Given the description of an element on the screen output the (x, y) to click on. 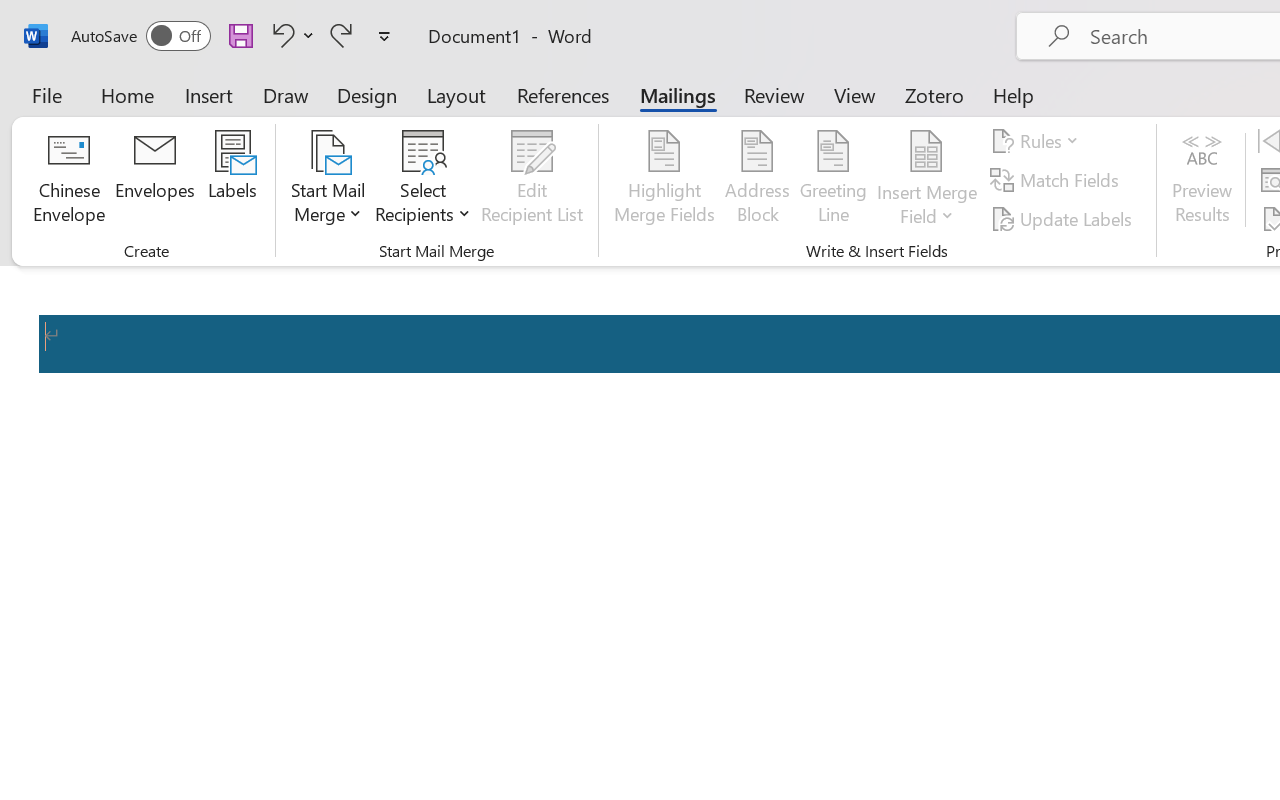
Address Block... (757, 179)
Undo Apply Quick Style Set (290, 35)
Undo Apply Quick Style Set (280, 35)
